Given the description of an element on the screen output the (x, y) to click on. 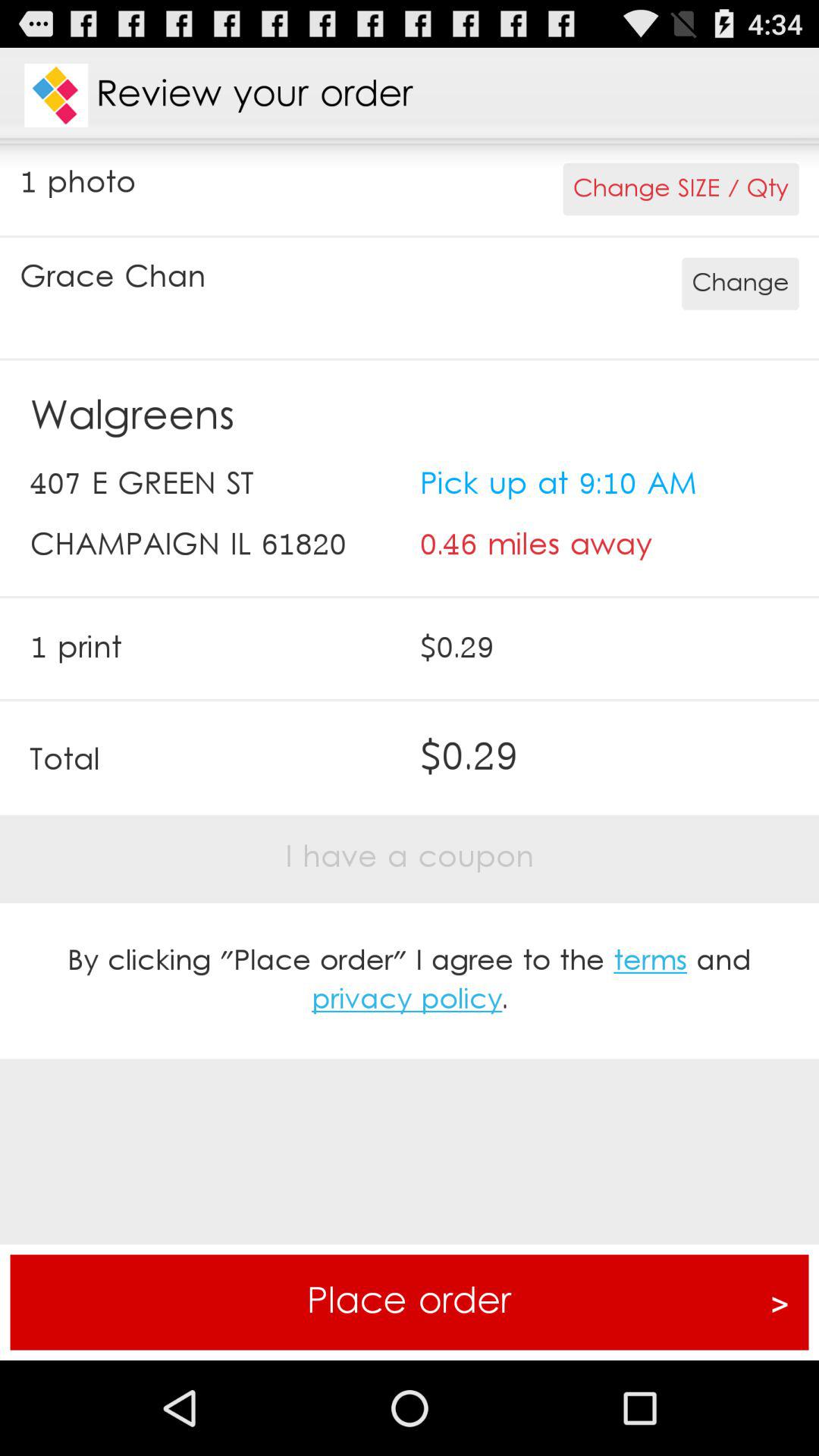
scroll until the change size / qty item (681, 189)
